Given the description of an element on the screen output the (x, y) to click on. 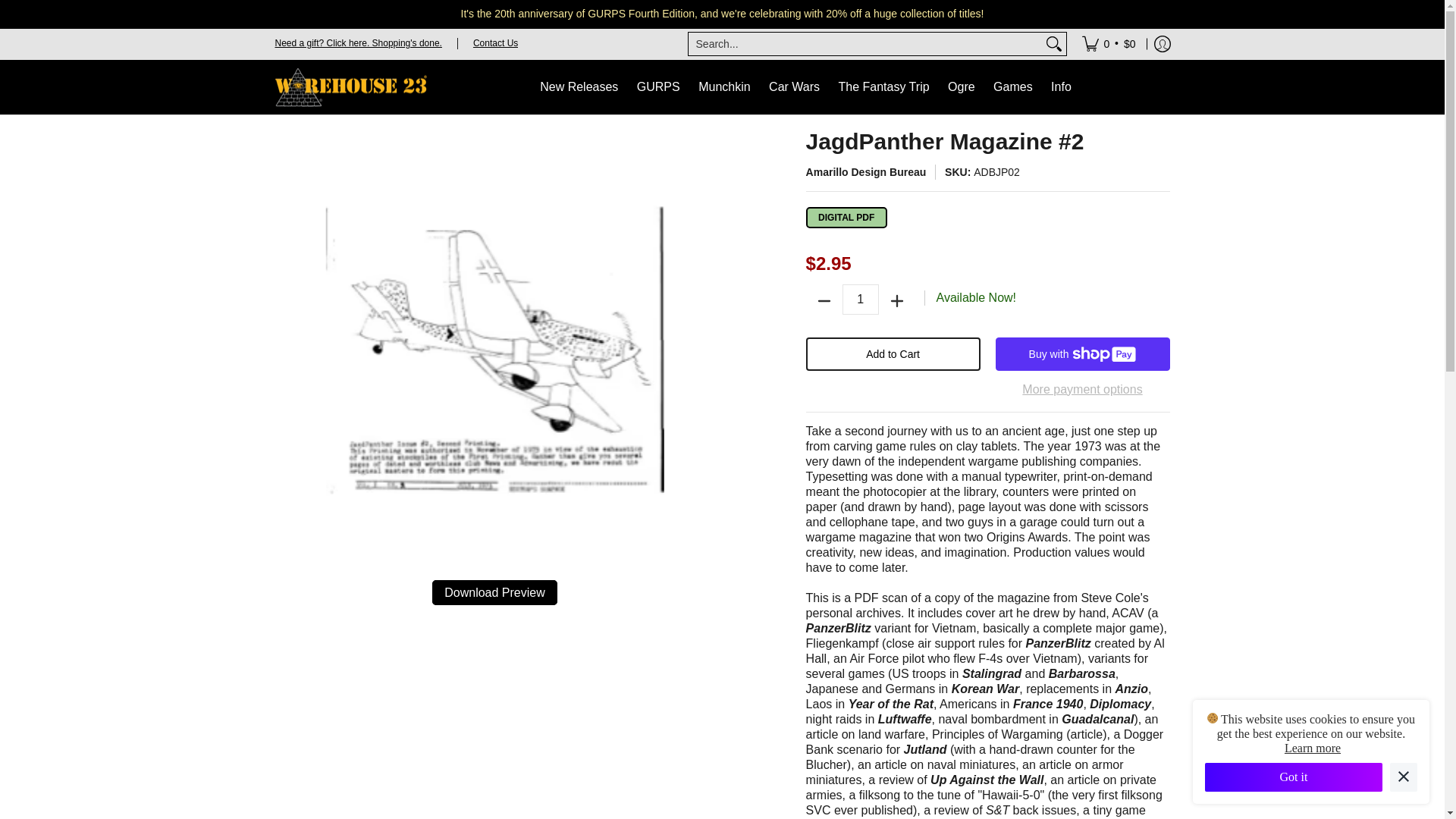
Games (1013, 87)
The Fantasy Trip (884, 86)
GURPS (657, 86)
Munchkin (723, 86)
Games (1013, 87)
Log in (1161, 43)
Warehouse 23 (350, 86)
Munchkin (723, 86)
Need a gift? Click here. Shopping's done. (358, 42)
Car Wars (794, 86)
